Given the description of an element on the screen output the (x, y) to click on. 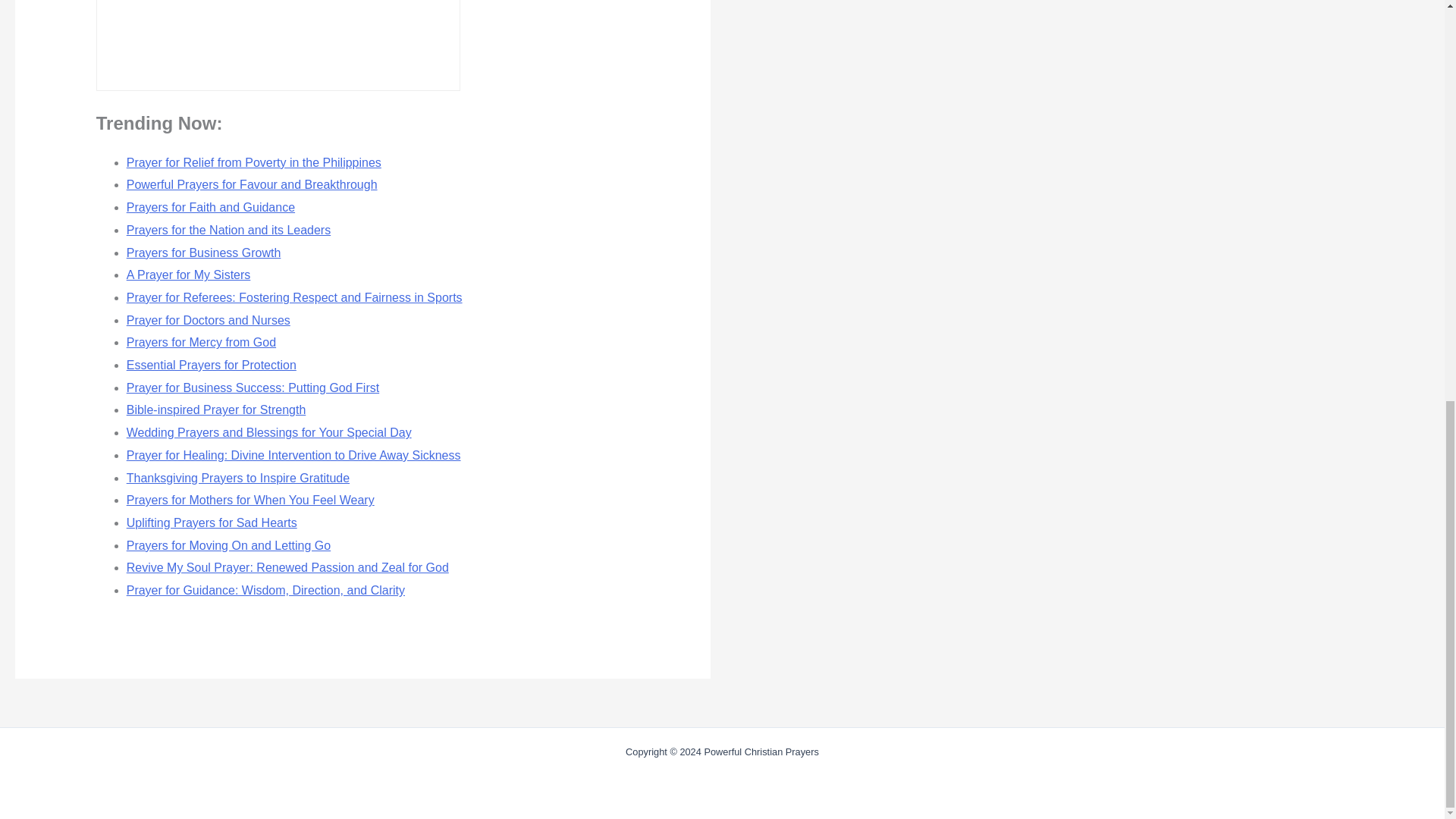
Prayers for Mercy from God (201, 341)
Powerful Prayers for Favour and Breakthrough (251, 184)
Prayers for Faith and Guidance (210, 206)
Prayers for Business Growth (203, 252)
Prayer for Business Success: Putting God First (252, 387)
Prayers for the Nation and its Leaders (228, 229)
Essential Prayers for Protection (211, 364)
Prayer for Relief from Poverty in the Philippines (253, 162)
A Prayer for My Sisters (188, 274)
Prayer for Doctors and Nurses (207, 319)
